Given the description of an element on the screen output the (x, y) to click on. 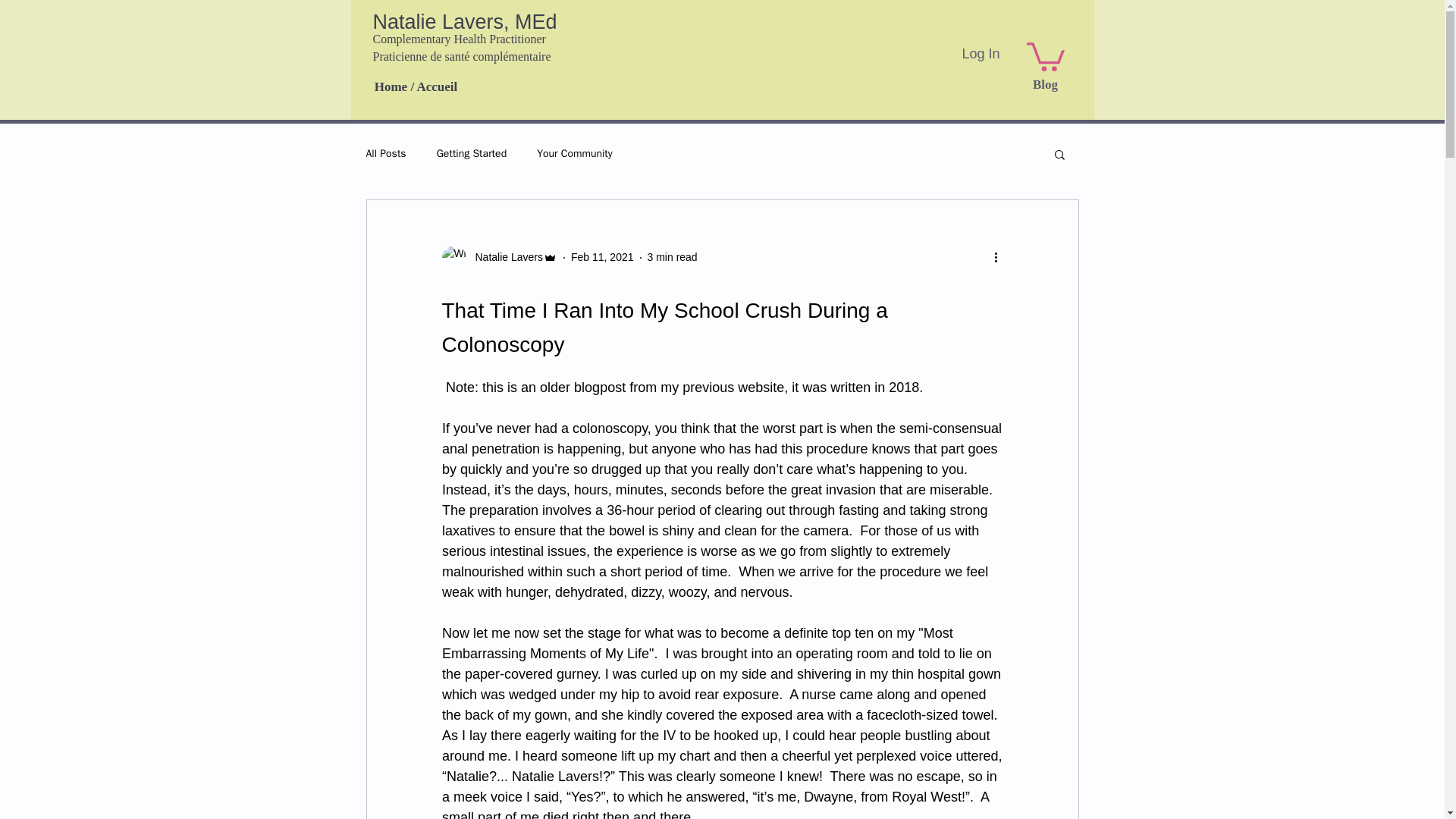
Log In (980, 53)
Natalie Lavers (499, 257)
Getting Started (471, 153)
3 min read (672, 256)
Your Community (574, 153)
Blog (1045, 84)
All Posts (385, 153)
Feb 11, 2021 (601, 256)
Natalie Lavers (504, 257)
